Given the description of an element on the screen output the (x, y) to click on. 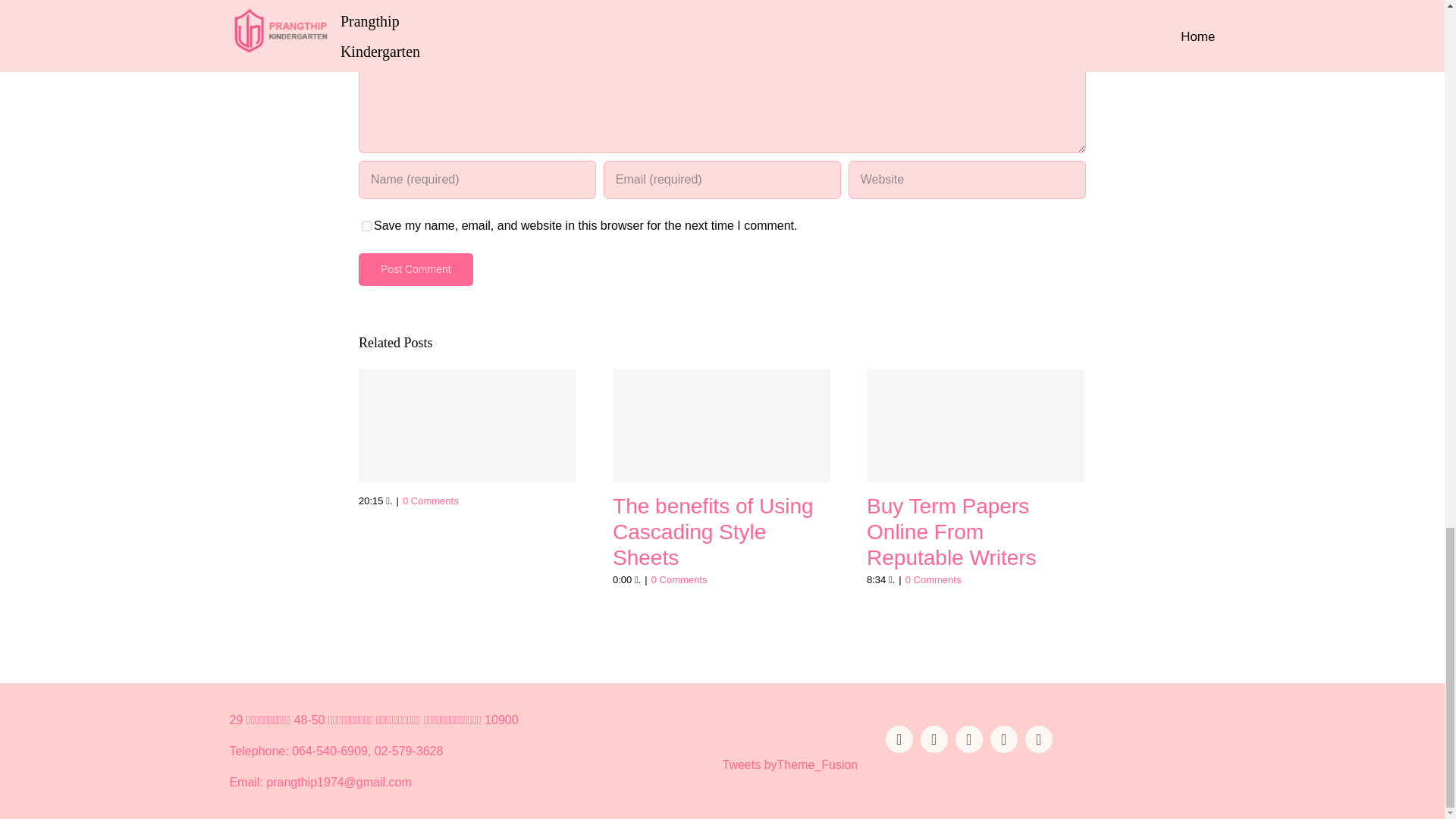
Buy Term Papers Online From Reputable Writers (951, 531)
yes (366, 225)
0 Comments (430, 500)
Post Comment (415, 269)
0 Comments (678, 579)
The benefits of Using Cascading Style Sheets (712, 531)
The benefits of Using Cascading Style Sheets (712, 531)
Post Comment (415, 269)
0 Comments (932, 579)
Buy Term Papers Online From Reputable Writers (951, 531)
